Given the description of an element on the screen output the (x, y) to click on. 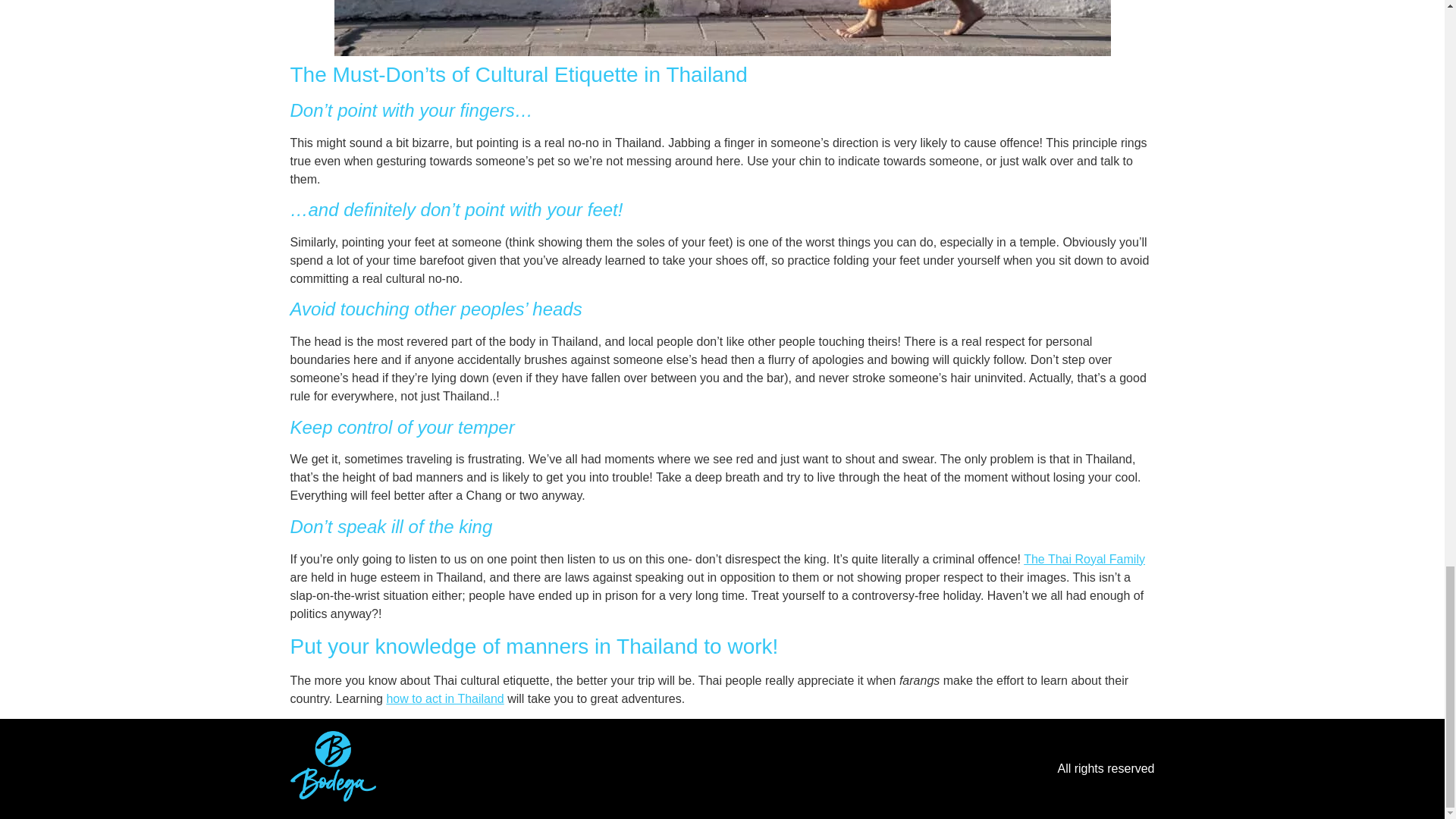
how to act in Thailand (444, 698)
The Thai Royal Family (1083, 558)
